Given the description of an element on the screen output the (x, y) to click on. 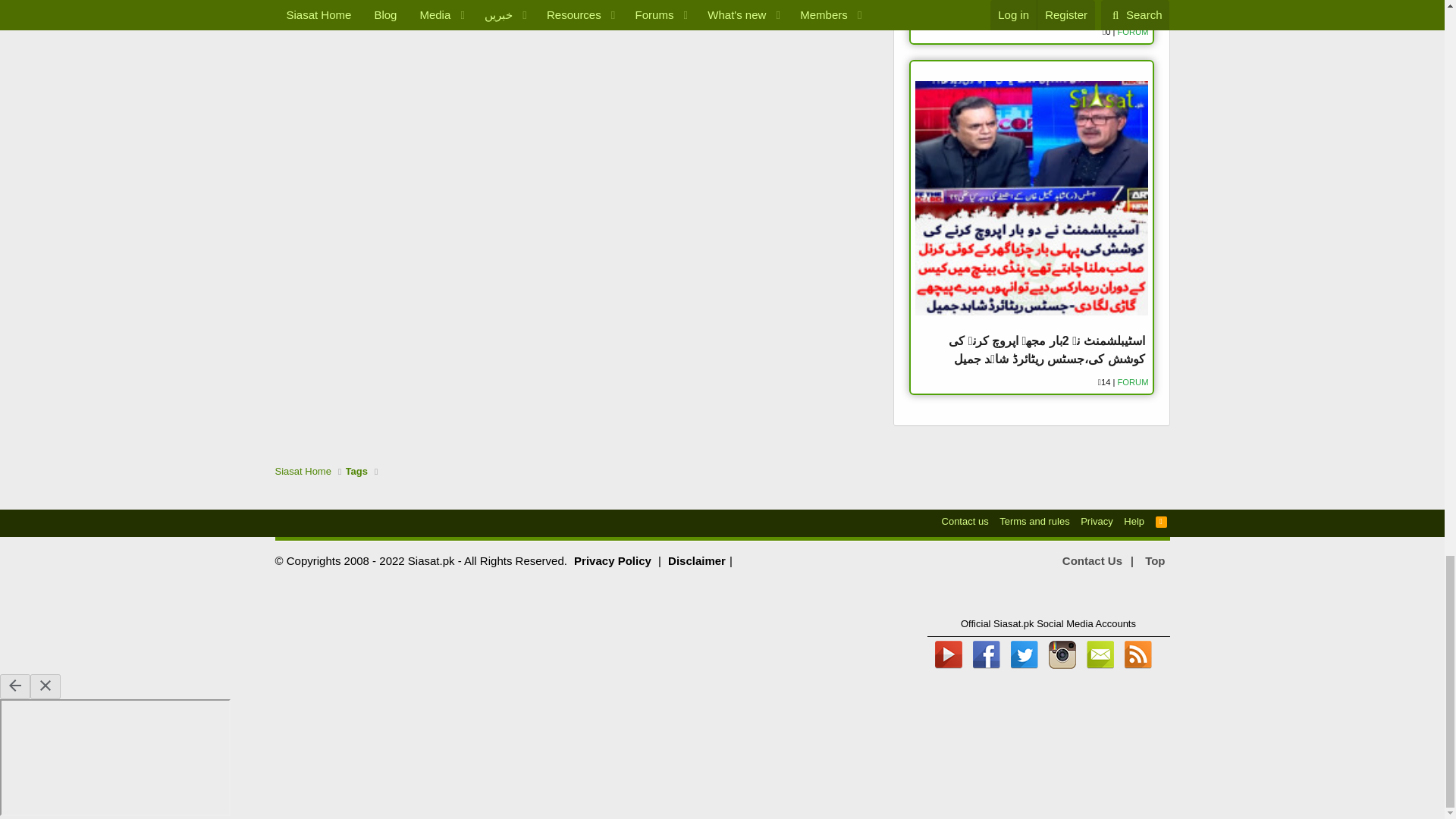
RSS (1161, 521)
